Given the description of an element on the screen output the (x, y) to click on. 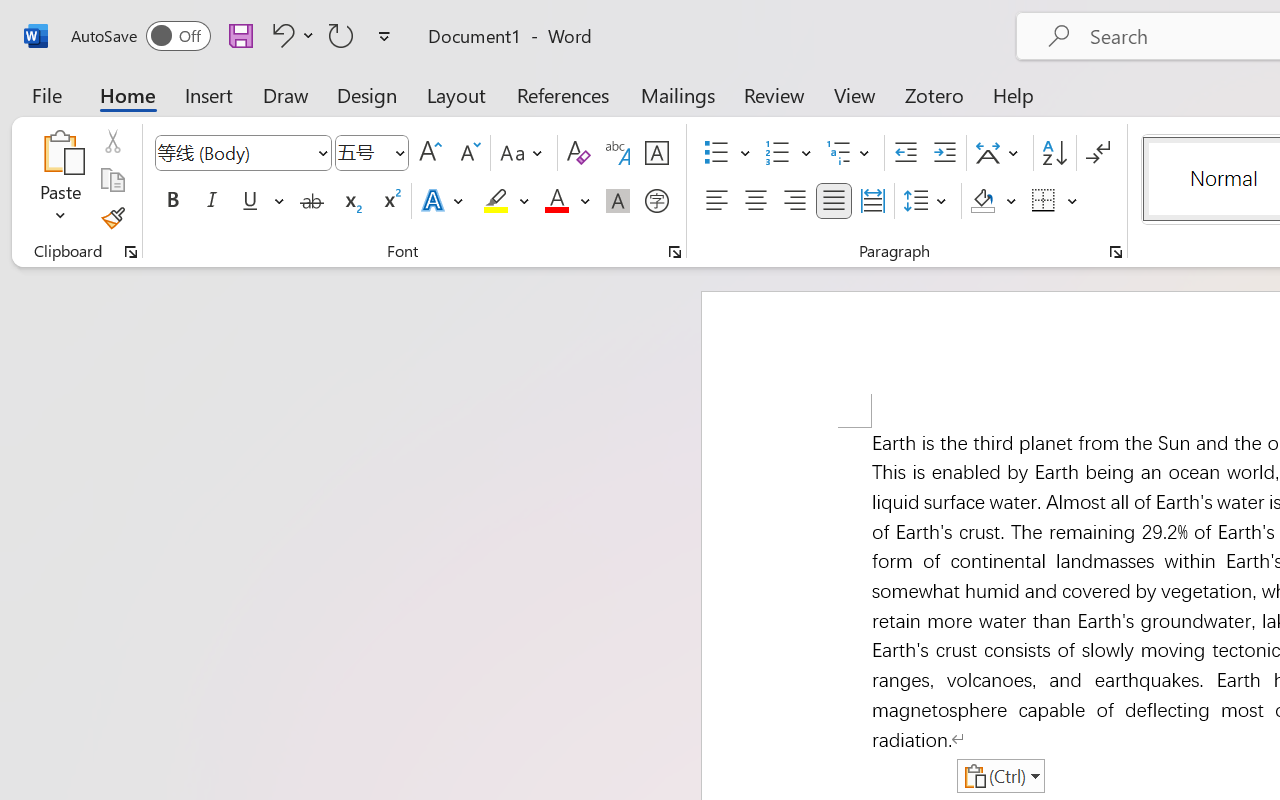
Distributed (872, 201)
Increase Indent (944, 153)
Help (1013, 94)
Font Color (567, 201)
Open (399, 152)
Italic (212, 201)
Text Highlight Color Yellow (495, 201)
Change Case (524, 153)
Copy (112, 179)
Align Left (716, 201)
